Given the description of an element on the screen output the (x, y) to click on. 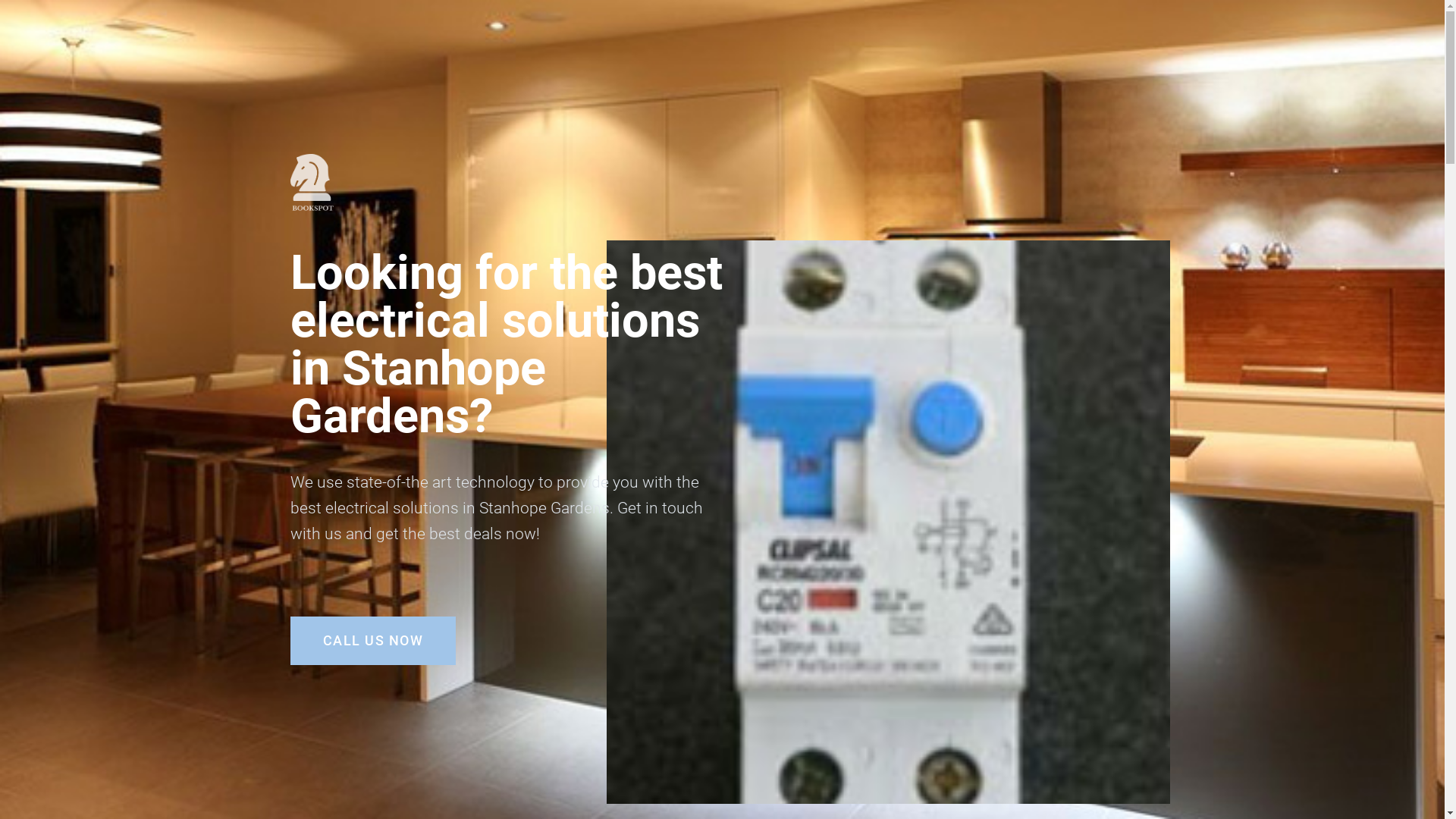
CALL US NOW Element type: text (372, 640)
